Given the description of an element on the screen output the (x, y) to click on. 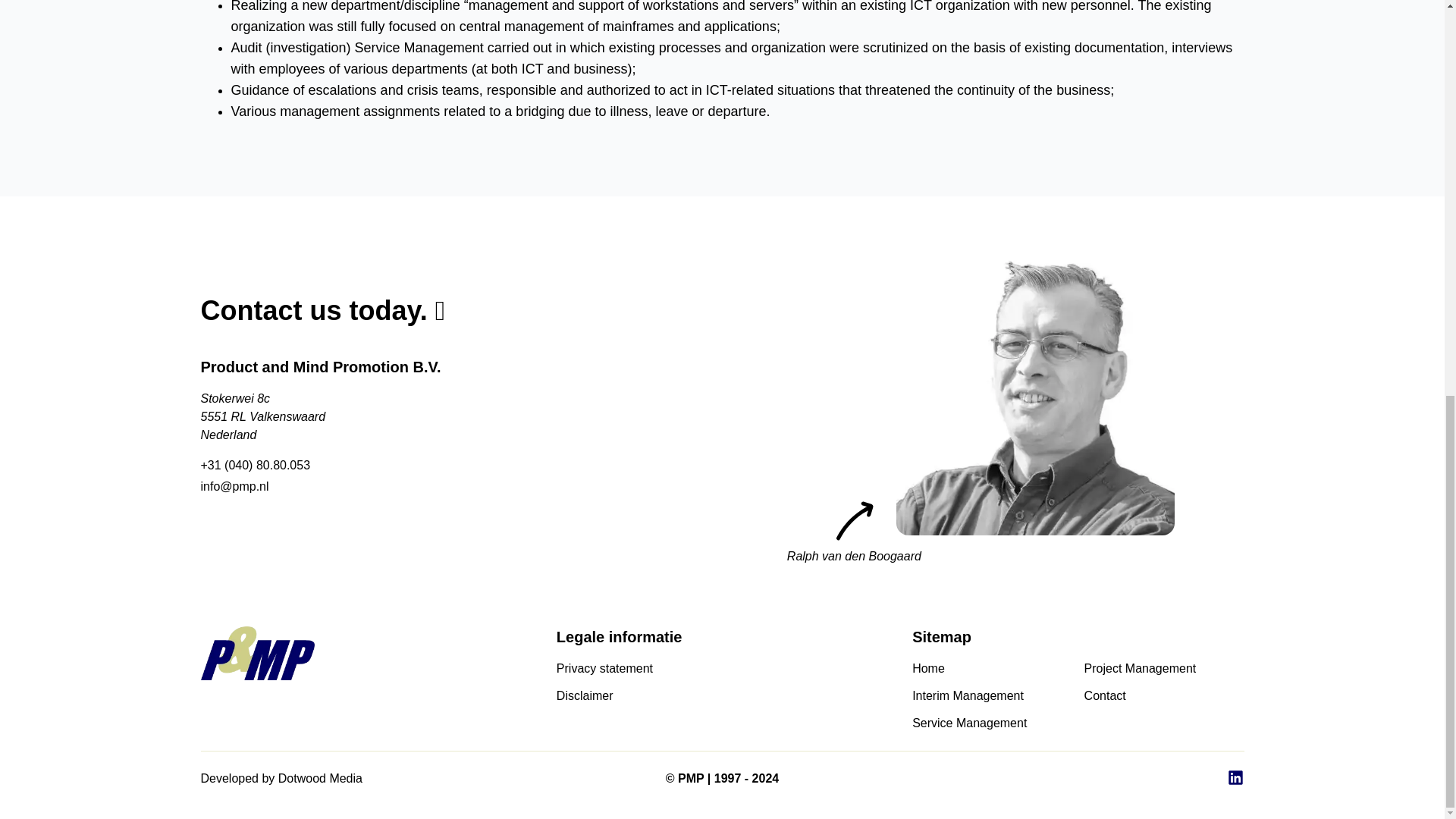
Privacy statement (722, 669)
Dotwood Media (320, 778)
Interim Management (993, 696)
Service Management (993, 723)
Home (993, 669)
Contact (1164, 696)
Disclaimer (722, 696)
Project Management (1164, 669)
